Given the description of an element on the screen output the (x, y) to click on. 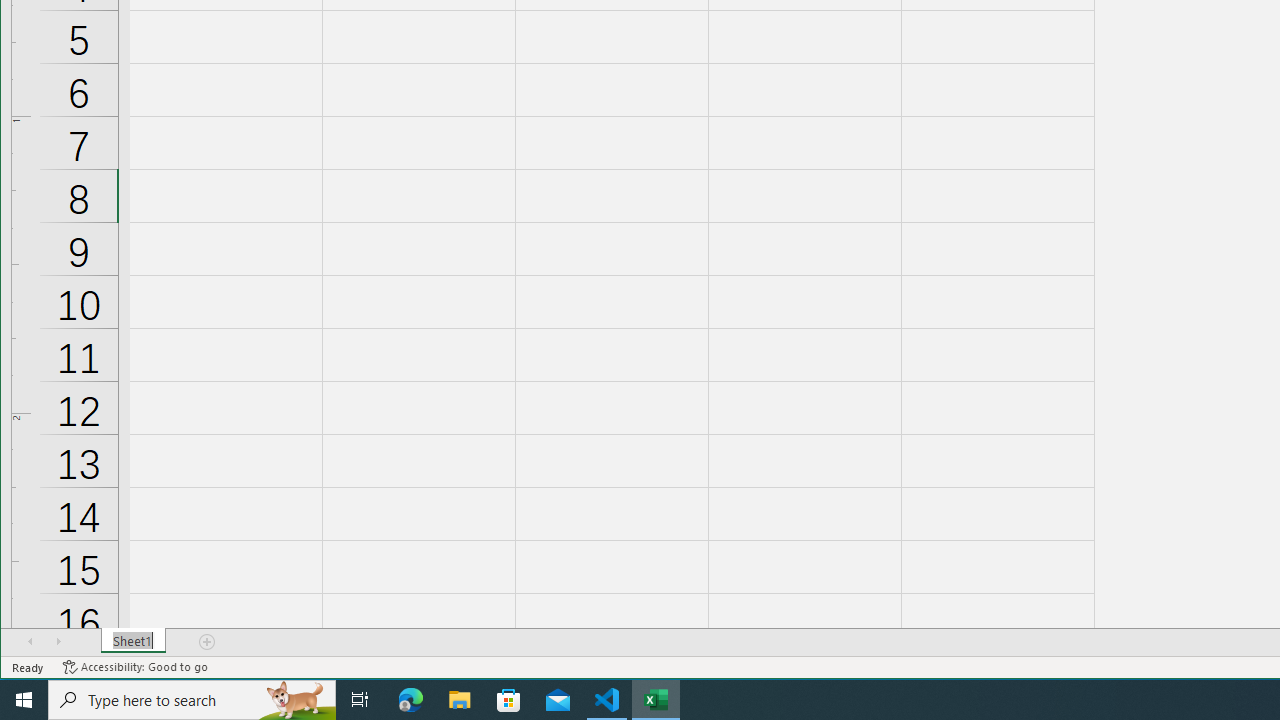
Start (24, 699)
